Given the description of an element on the screen output the (x, y) to click on. 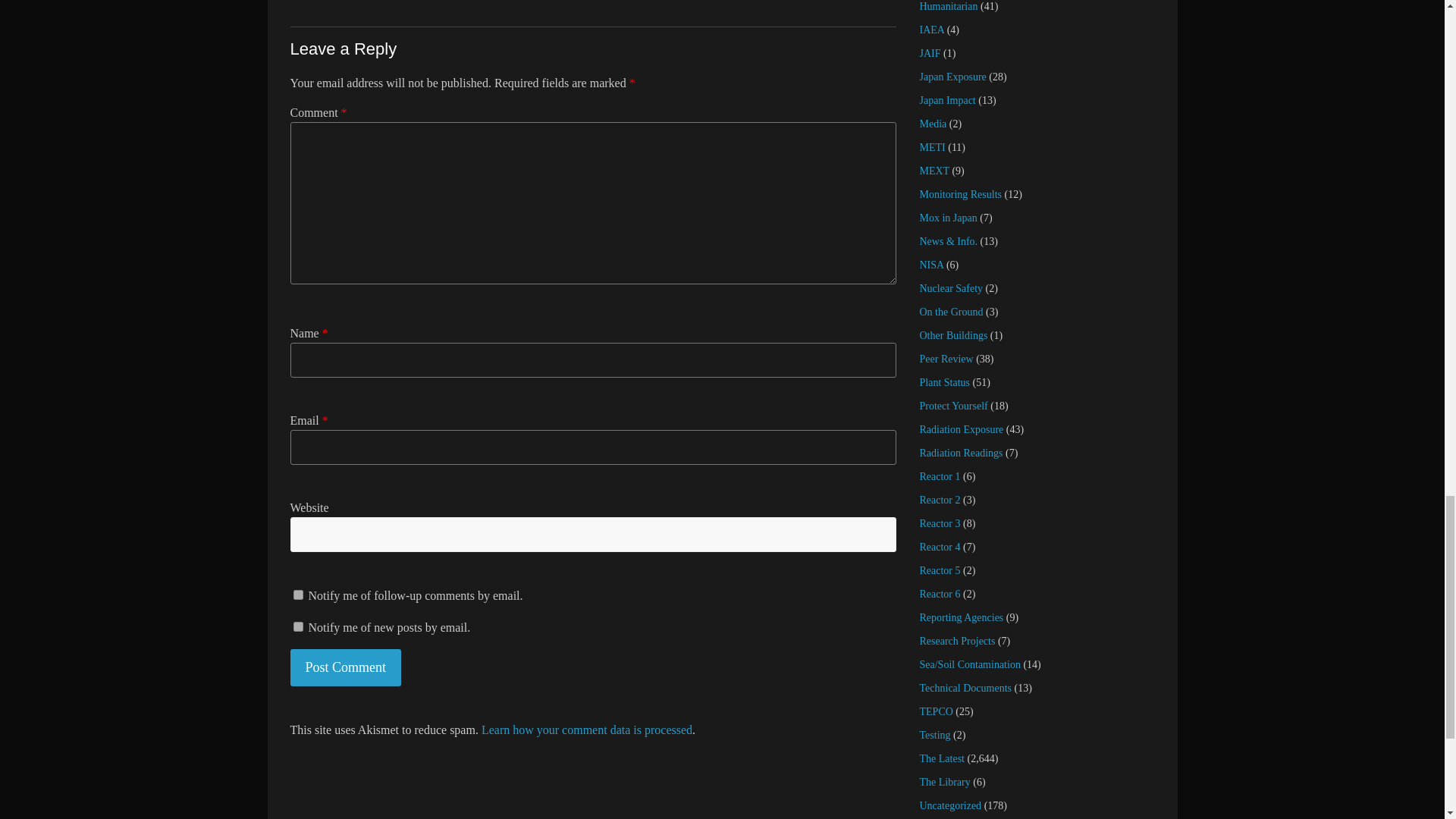
subscribe (297, 594)
subscribe (297, 626)
Post Comment (345, 667)
